Given the description of an element on the screen output the (x, y) to click on. 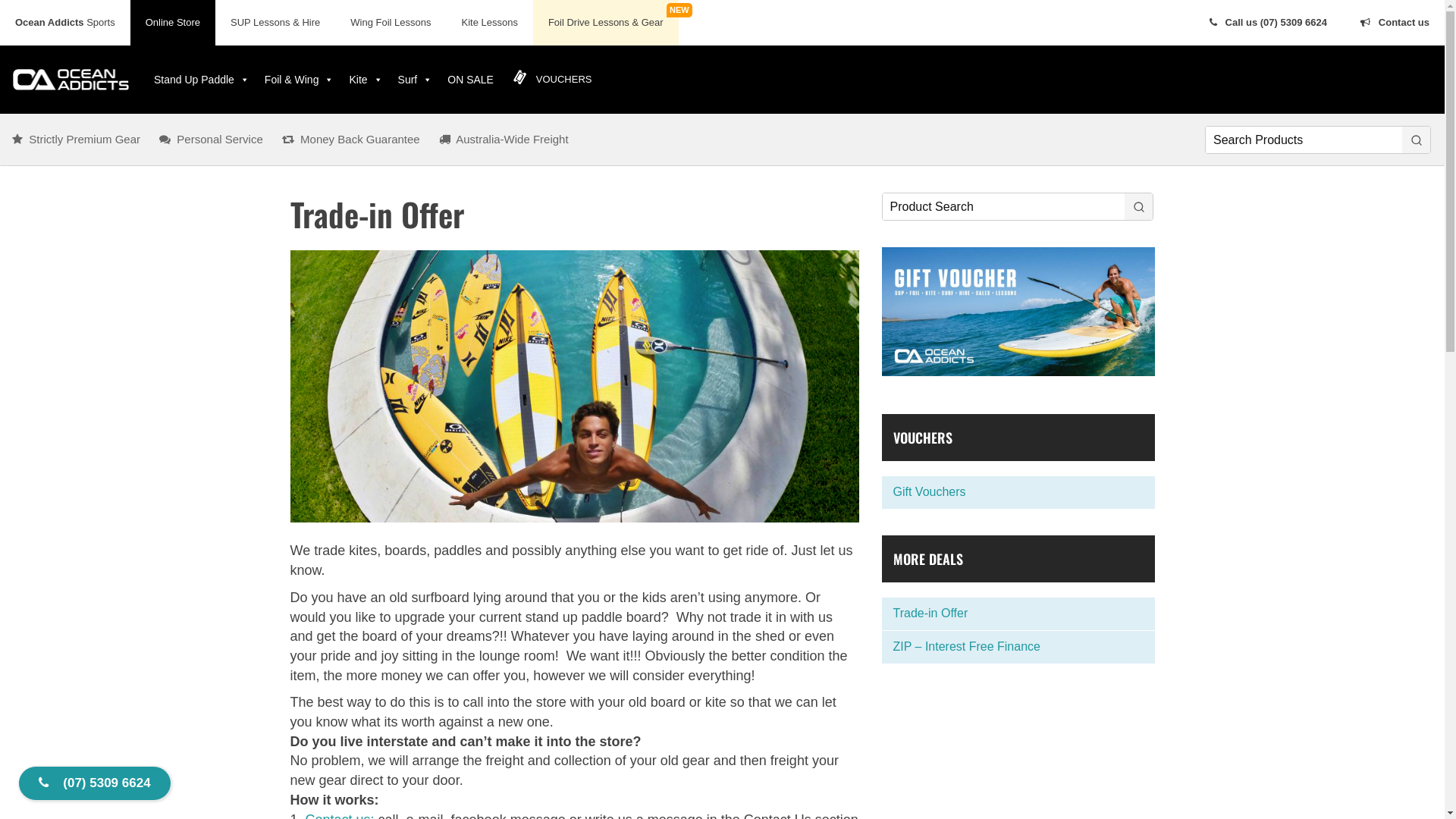
Foil Drive Lessons & Gear Element type: text (605, 22)
Kite Element type: text (365, 79)
Kite Lessons Element type: text (488, 22)
  VOUCHERS Element type: text (552, 79)
ON SALE Element type: text (470, 79)
Online Store Element type: text (172, 22)
Gift Vouchers Element type: text (1017, 492)
Surf Element type: text (415, 79)
  Contact us Element type: text (1393, 22)
  Call us (07) 5309 6624 Element type: text (1266, 22)
SUP Lessons & Hire Element type: text (275, 22)
Foil & Wing Element type: text (299, 79)
online store home Element type: hover (59, 64)
Wing Foil Lessons Element type: text (390, 22)
    (07) 5309 6624 Element type: text (94, 783)
Stand Up Paddle Element type: text (201, 79)
Trade-in Offer Element type: text (1017, 613)
